Given the description of an element on the screen output the (x, y) to click on. 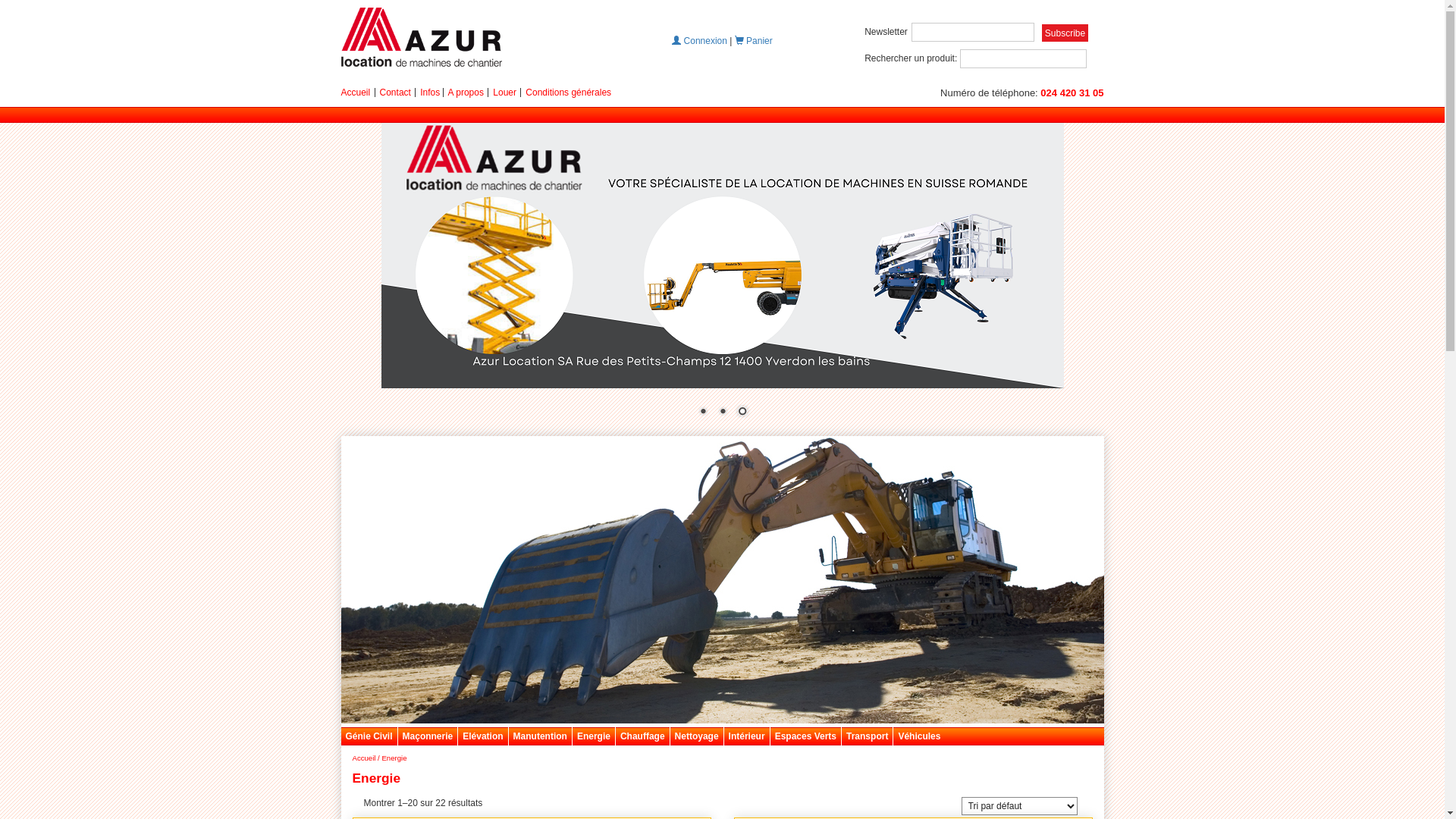
Accueil Element type: text (355, 92)
Energie Element type: text (593, 737)
2 Element type: text (722, 412)
3 Element type: text (742, 412)
Panier Element type: text (753, 40)
Connexion Element type: text (699, 40)
Espaces Verts Element type: text (805, 737)
Nettoyage Element type: text (696, 737)
Louer Element type: text (504, 92)
A propos Element type: text (465, 92)
Transport Element type: text (866, 737)
Accueil Element type: text (363, 758)
Manutention Element type: text (539, 737)
Contact Element type: text (395, 92)
Chauffage Element type: text (642, 737)
Subscribe Element type: text (1064, 32)
1 Element type: text (702, 412)
Infos Element type: text (429, 92)
